Given the description of an element on the screen output the (x, y) to click on. 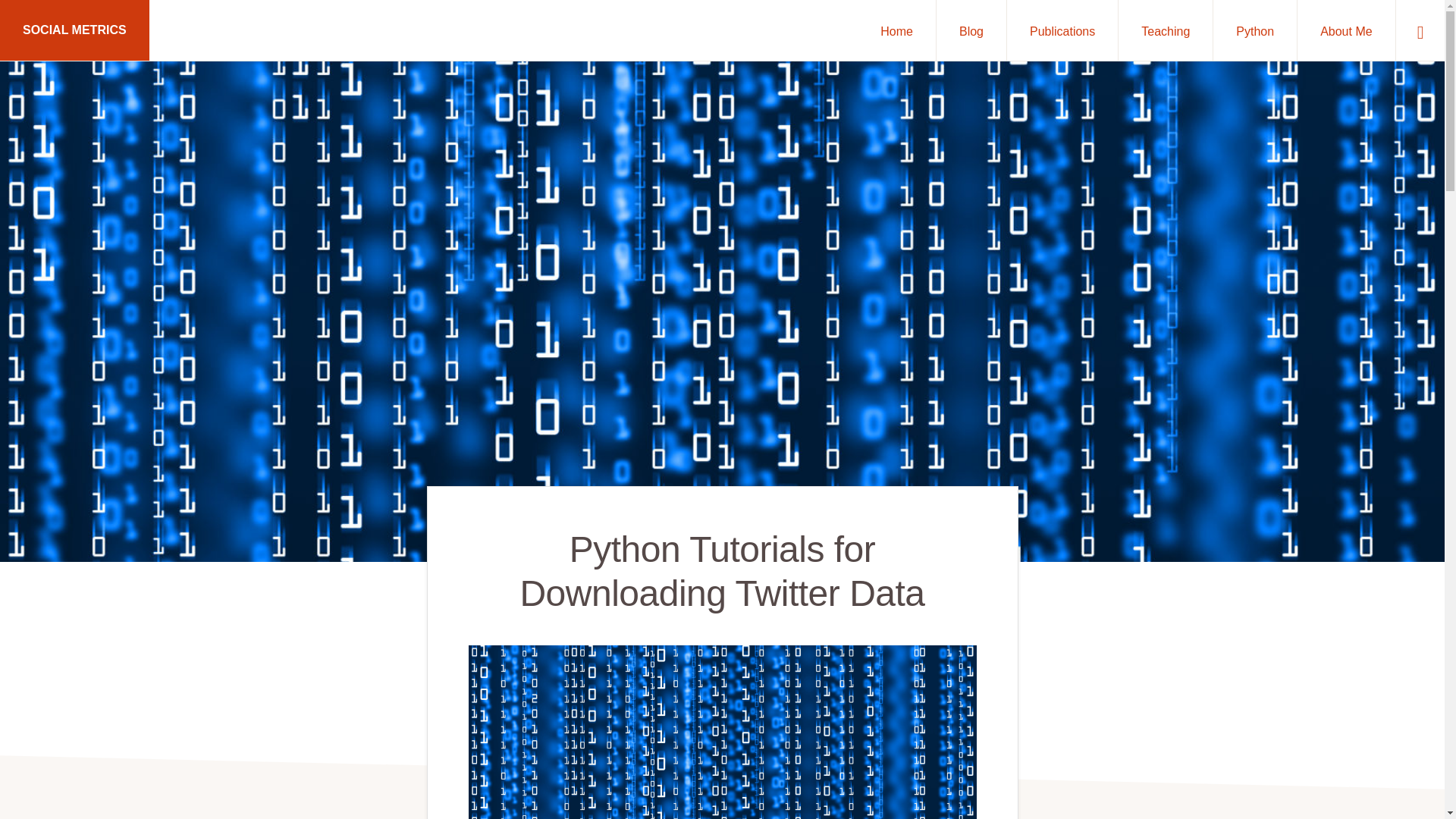
Publications (1062, 30)
Blog (971, 30)
About Me (1345, 30)
Teaching (1165, 30)
Python (1254, 30)
SOCIAL METRICS (74, 30)
Home (896, 30)
